Given the description of an element on the screen output the (x, y) to click on. 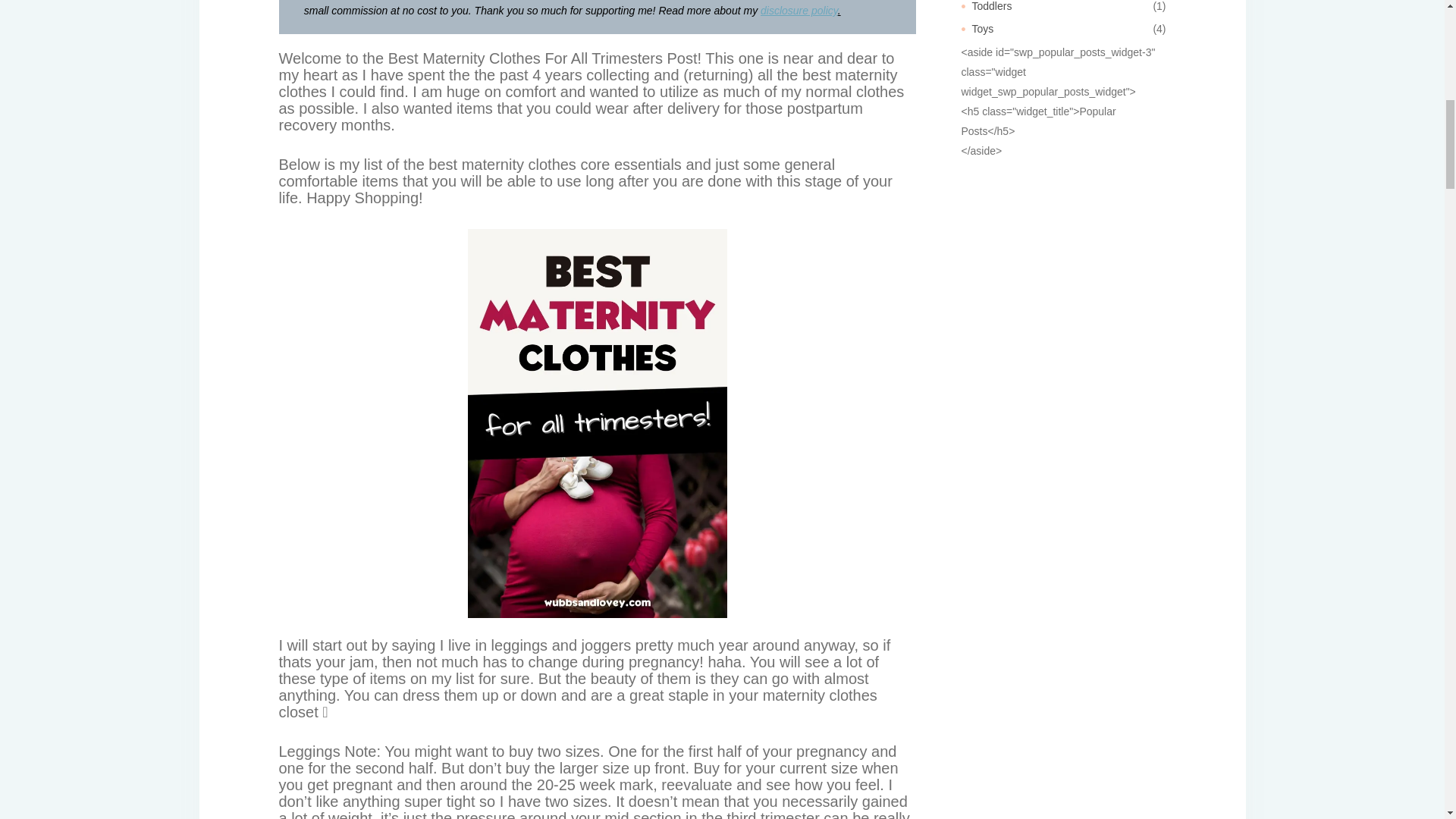
disclosure policy (799, 10)
